Given the description of an element on the screen output the (x, y) to click on. 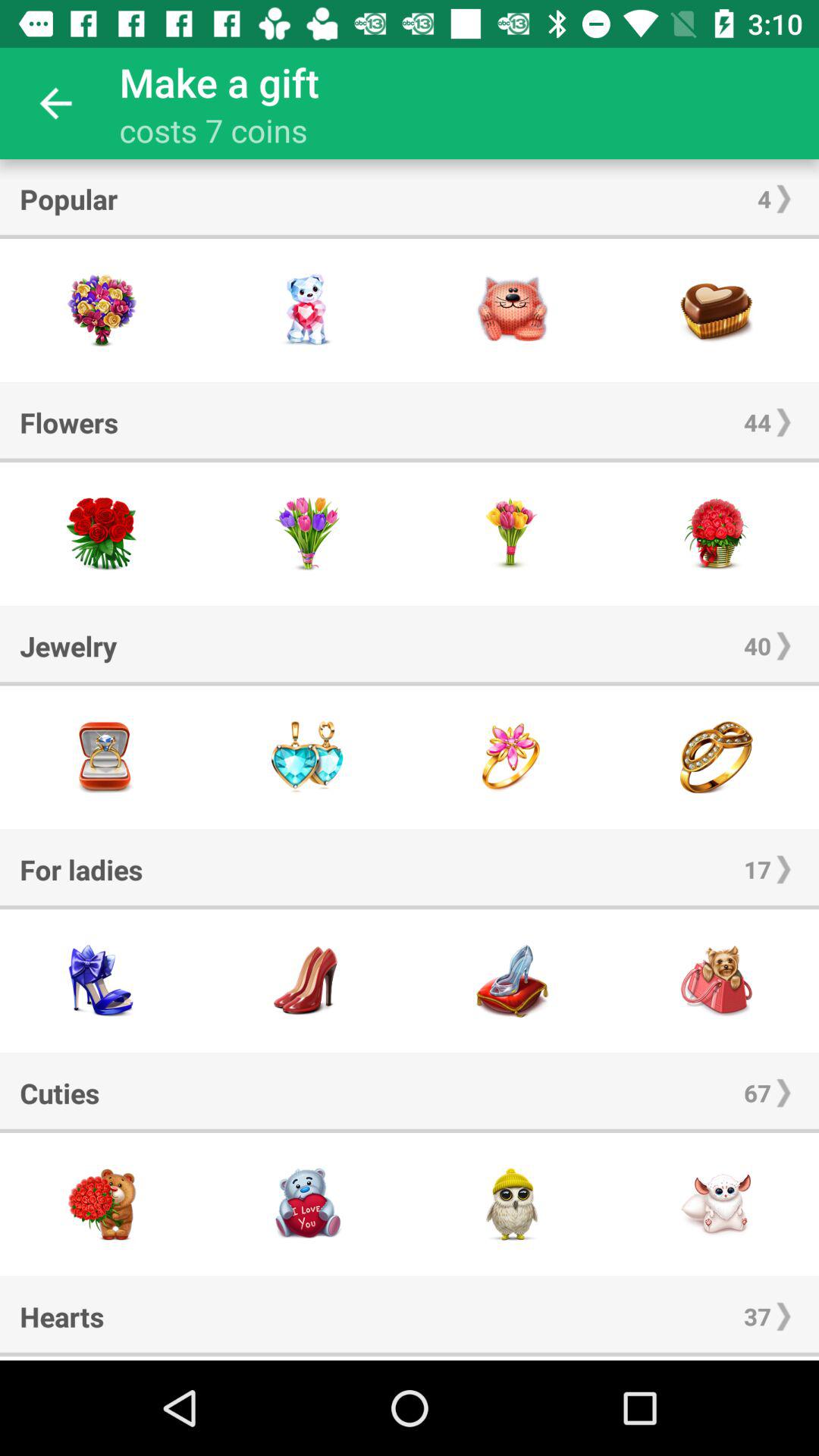
select this gift button (716, 310)
